Given the description of an element on the screen output the (x, y) to click on. 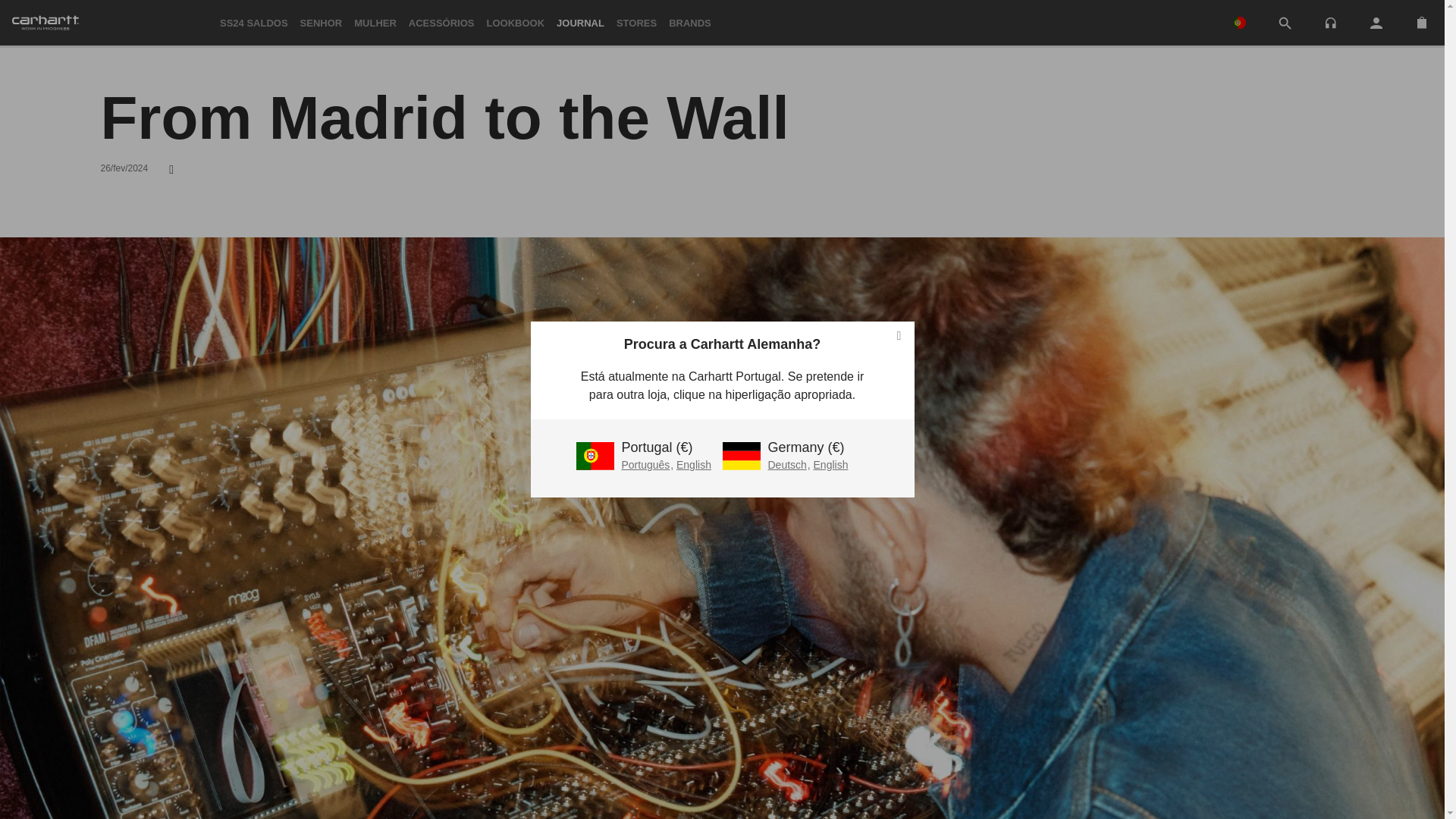
Pesquisa aqui (1284, 22)
Pesquisa aqui (1285, 23)
Radio (1330, 22)
Radio (1330, 21)
